Given the description of an element on the screen output the (x, y) to click on. 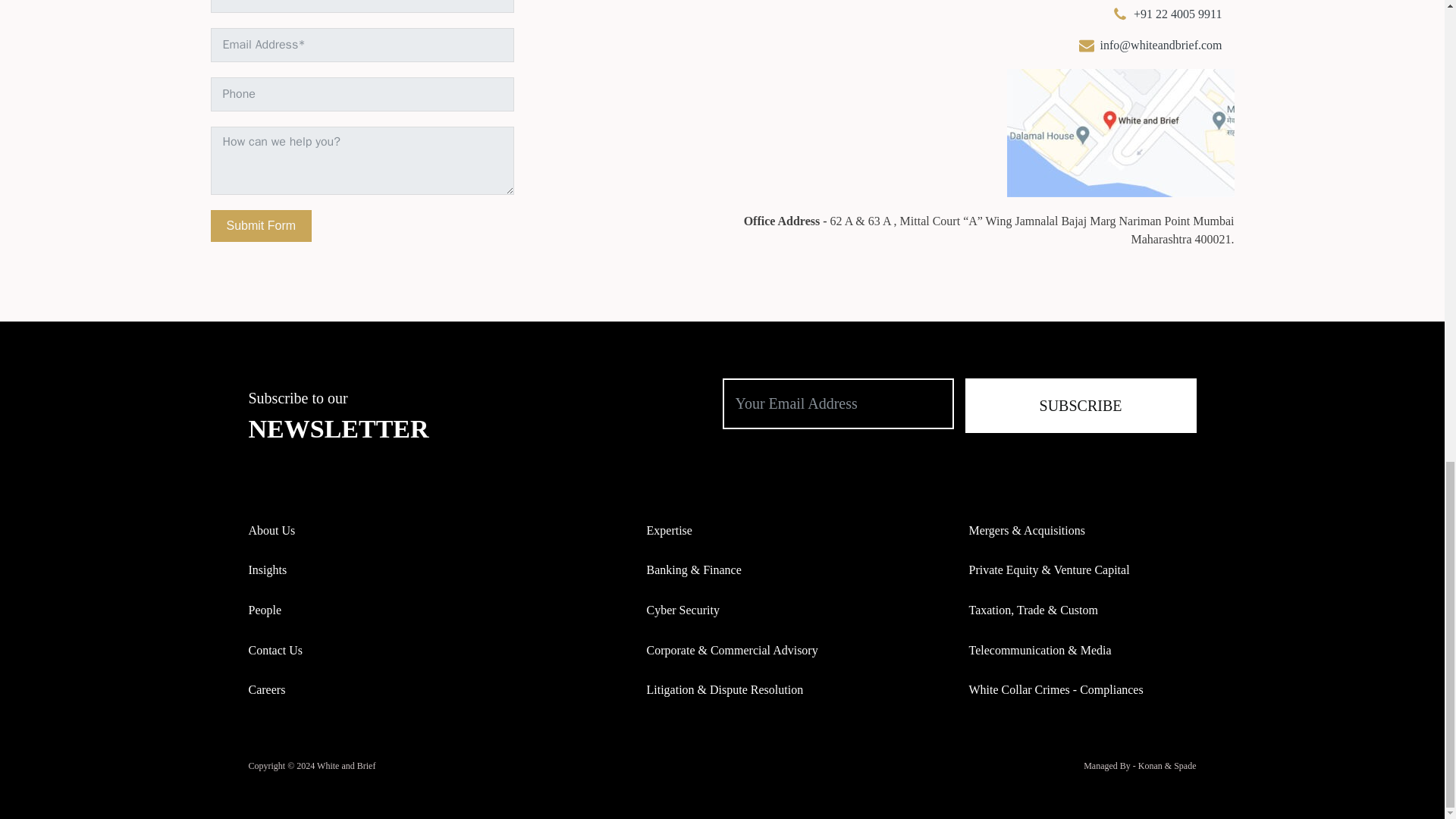
Careers (266, 690)
Insights (267, 569)
Contact Us (275, 650)
Expertise (668, 530)
SUBSCRIBE (1079, 405)
About Us (271, 530)
Cyber Security (682, 609)
CONTACT (1166, 2)
People (265, 609)
Submit Form (262, 225)
